Given the description of an element on the screen output the (x, y) to click on. 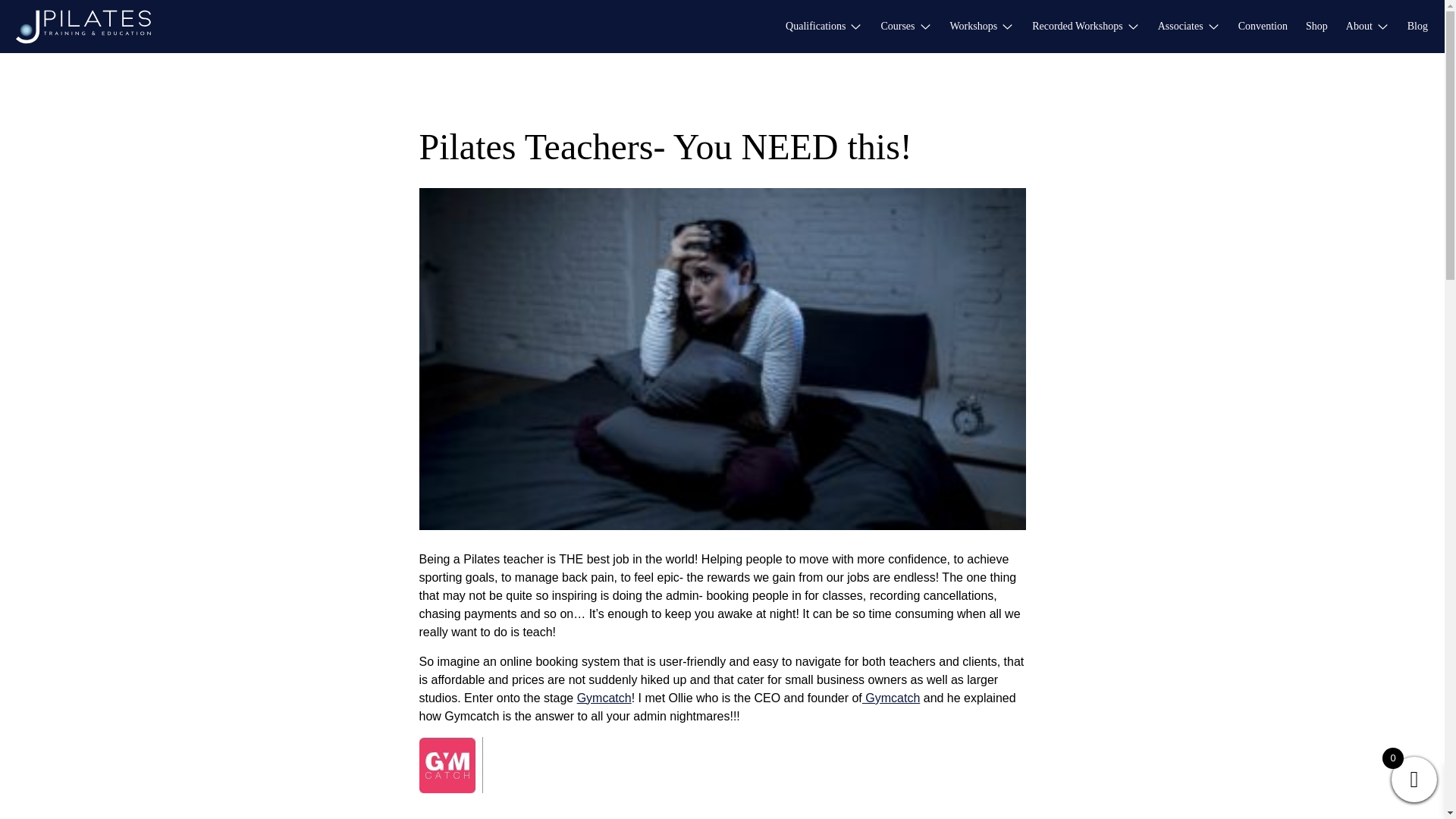
Courses (897, 25)
Expand child menu (924, 12)
Recorded Workshops (1077, 25)
Workshops (973, 25)
Convention (1263, 25)
Expand child menu (1007, 12)
Expand child menu (854, 12)
Shop (1316, 25)
Associates (1180, 25)
Expand child menu (1213, 12)
Qualifications (815, 25)
Expand child menu (1133, 12)
